Given the description of an element on the screen output the (x, y) to click on. 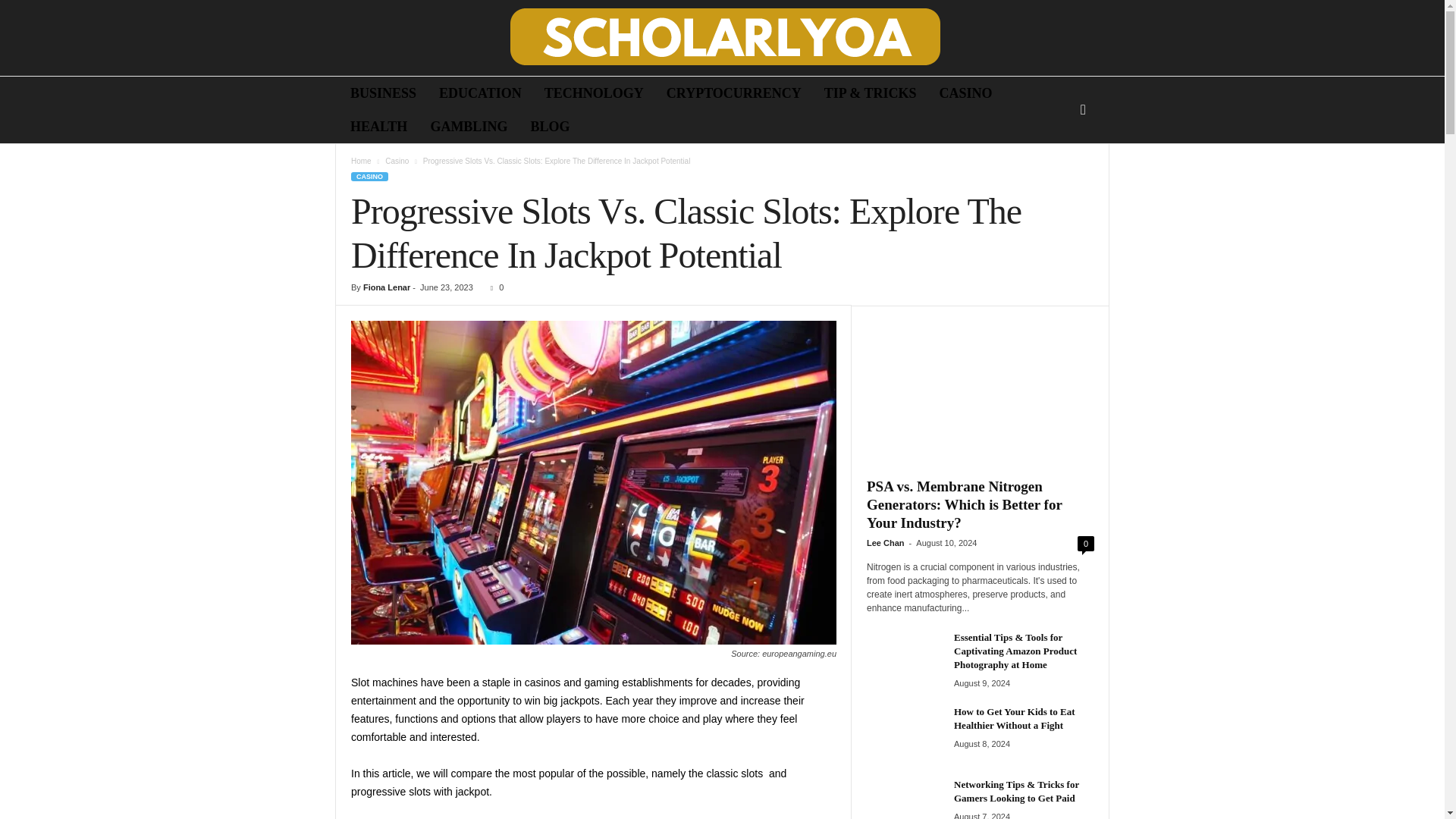
Casino (397, 161)
EDUCATION (480, 92)
HEALTH (379, 126)
BUSINESS (383, 92)
BLOG (549, 126)
0 (493, 286)
CASINO (369, 175)
Home (360, 161)
GAMBLING (468, 126)
